Given the description of an element on the screen output the (x, y) to click on. 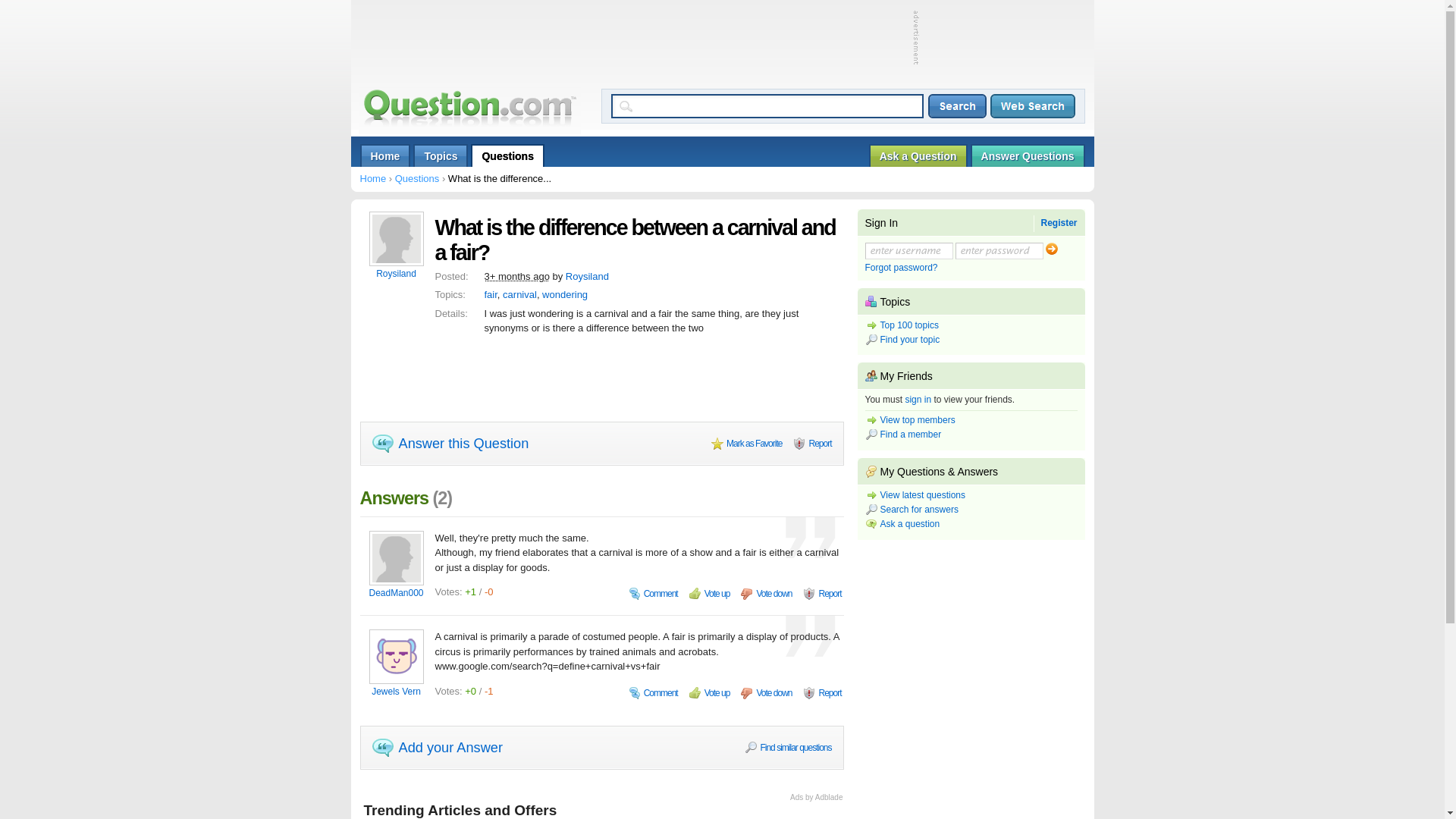
Find similar questions (787, 747)
Jewels Vern (396, 691)
Answer Questions (1027, 155)
Home (384, 155)
Vote down (766, 593)
Topics (440, 155)
Comment (653, 593)
Vote up (709, 593)
Answer this Question (449, 443)
Vote up (709, 693)
fair (489, 294)
DeadMan000 (396, 592)
Roysiland (396, 273)
Roysiland (587, 275)
wondering (564, 294)
